Given the description of an element on the screen output the (x, y) to click on. 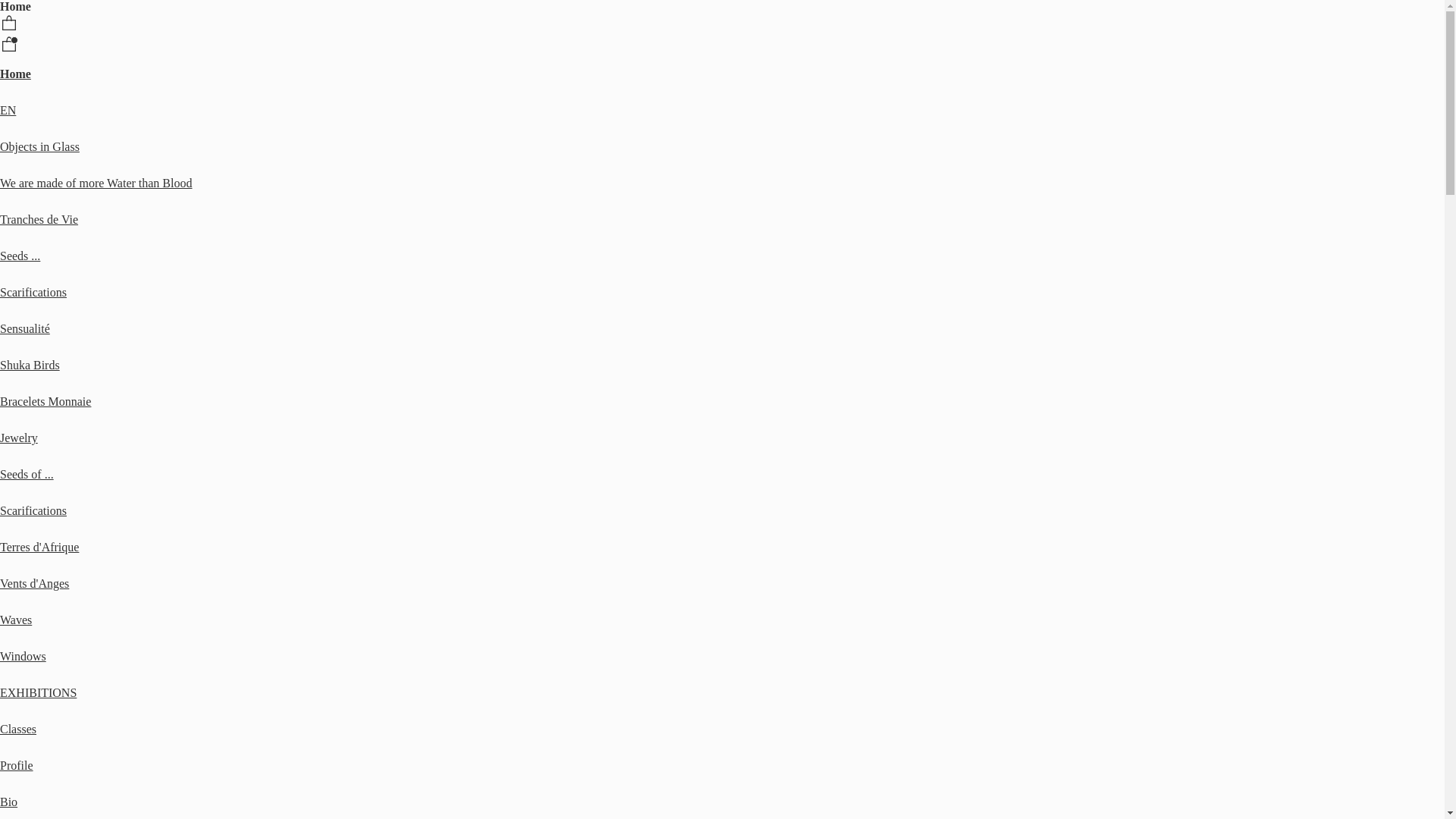
Scarifications Element type: text (33, 510)
Shuka Birds Element type: text (29, 364)
Bracelets Monnaie Element type: text (45, 401)
Windows Element type: text (23, 655)
EN Element type: text (7, 109)
Bio Element type: text (8, 801)
Seeds ... Element type: text (20, 255)
Terres d'Afrique Element type: text (39, 546)
Tranches de Vie Element type: text (39, 219)
We are made of more Water than Blood Element type: text (95, 182)
Classes Element type: text (18, 728)
EXHIBITIONS Element type: text (38, 692)
Jewelry Element type: text (18, 437)
Vents d'Anges Element type: text (34, 583)
Profile Element type: text (16, 765)
Scarifications Element type: text (33, 291)
Home Element type: text (15, 73)
Objects in Glass Element type: text (39, 146)
Seeds of ... Element type: text (26, 473)
Waves Element type: text (15, 619)
